Given the description of an element on the screen output the (x, y) to click on. 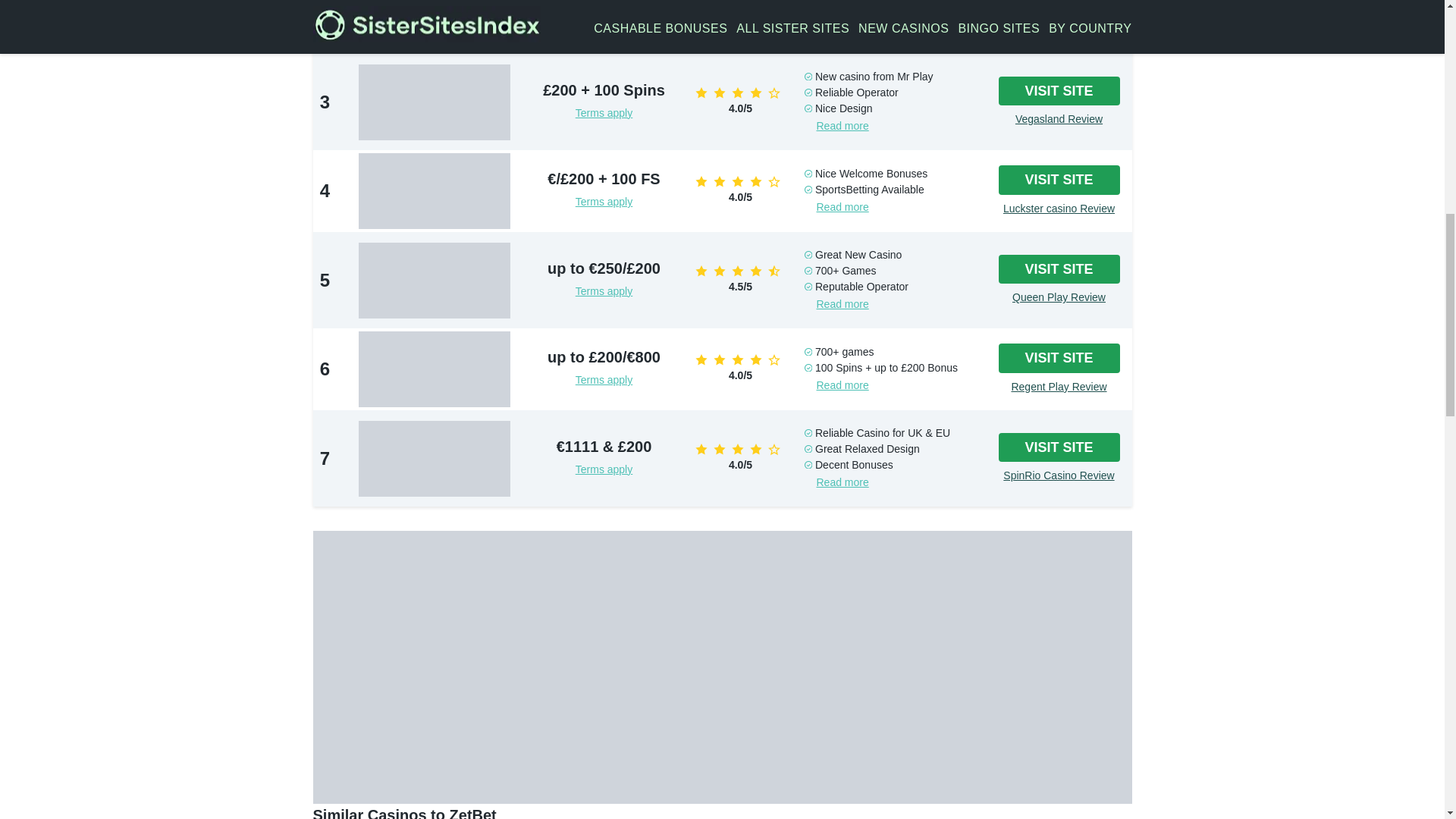
VISIT SITE (1058, 8)
Read more (841, 28)
Plaza Royal Review (1058, 30)
VISIT SITE (1058, 91)
Terms apply (603, 111)
Terms apply (603, 23)
Vegasland Review (1058, 119)
Read more (841, 125)
